Given the description of an element on the screen output the (x, y) to click on. 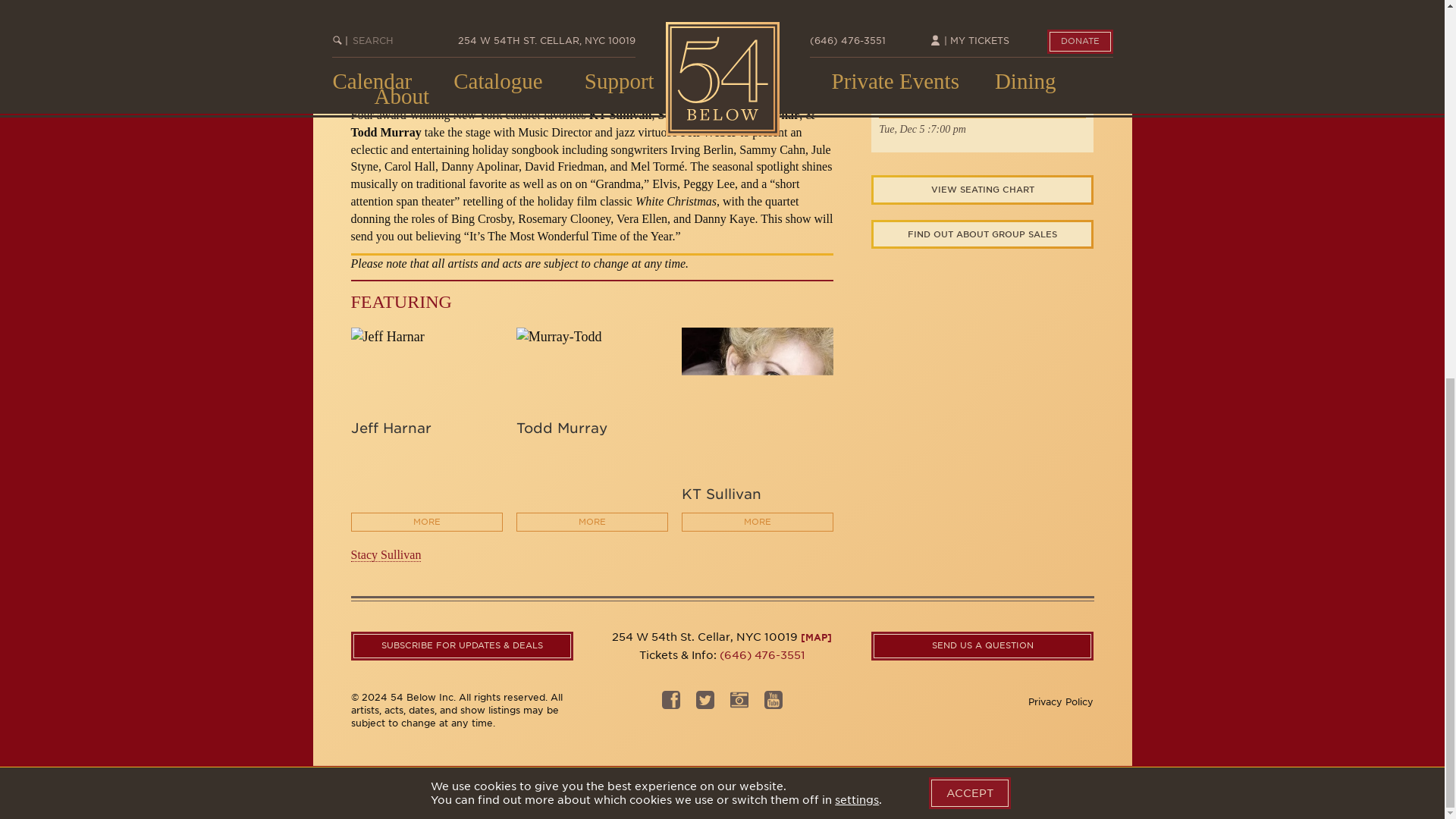
Harnar-Jeff (426, 337)
Sullivan-KT (756, 403)
Murray-Todd (592, 337)
54Below on Facebook (670, 703)
54Below on Instagram (773, 703)
54Below on Instagram (739, 703)
54Below on Twitter (704, 703)
